Given the description of an element on the screen output the (x, y) to click on. 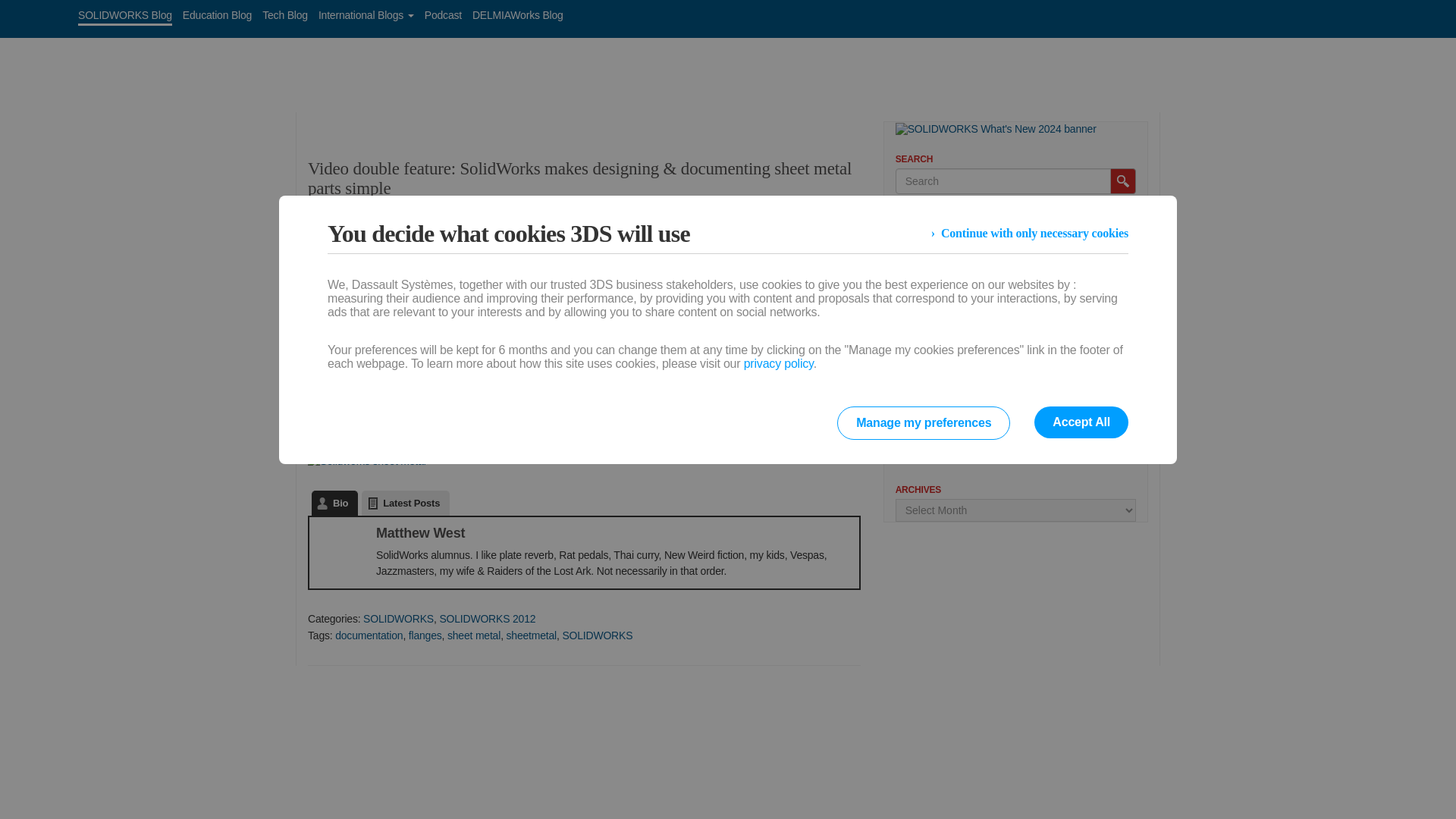
SOLIDWORKS Blog (124, 14)
International Blogs (365, 14)
SOLIDWORKS 2012 (487, 618)
Manage my preferences (923, 422)
documentation (368, 635)
Solidworks sheet metal (366, 461)
The Best of 3DEXPERIENCE World 2024 (983, 366)
The SOLIDWORKS Blog (403, 59)
SOLIDWORKS (596, 635)
Bio (334, 502)
Education Blog (217, 14)
flanges (425, 635)
Matthew West (355, 214)
sheet metal (473, 635)
Podcast (443, 14)
